Given the description of an element on the screen output the (x, y) to click on. 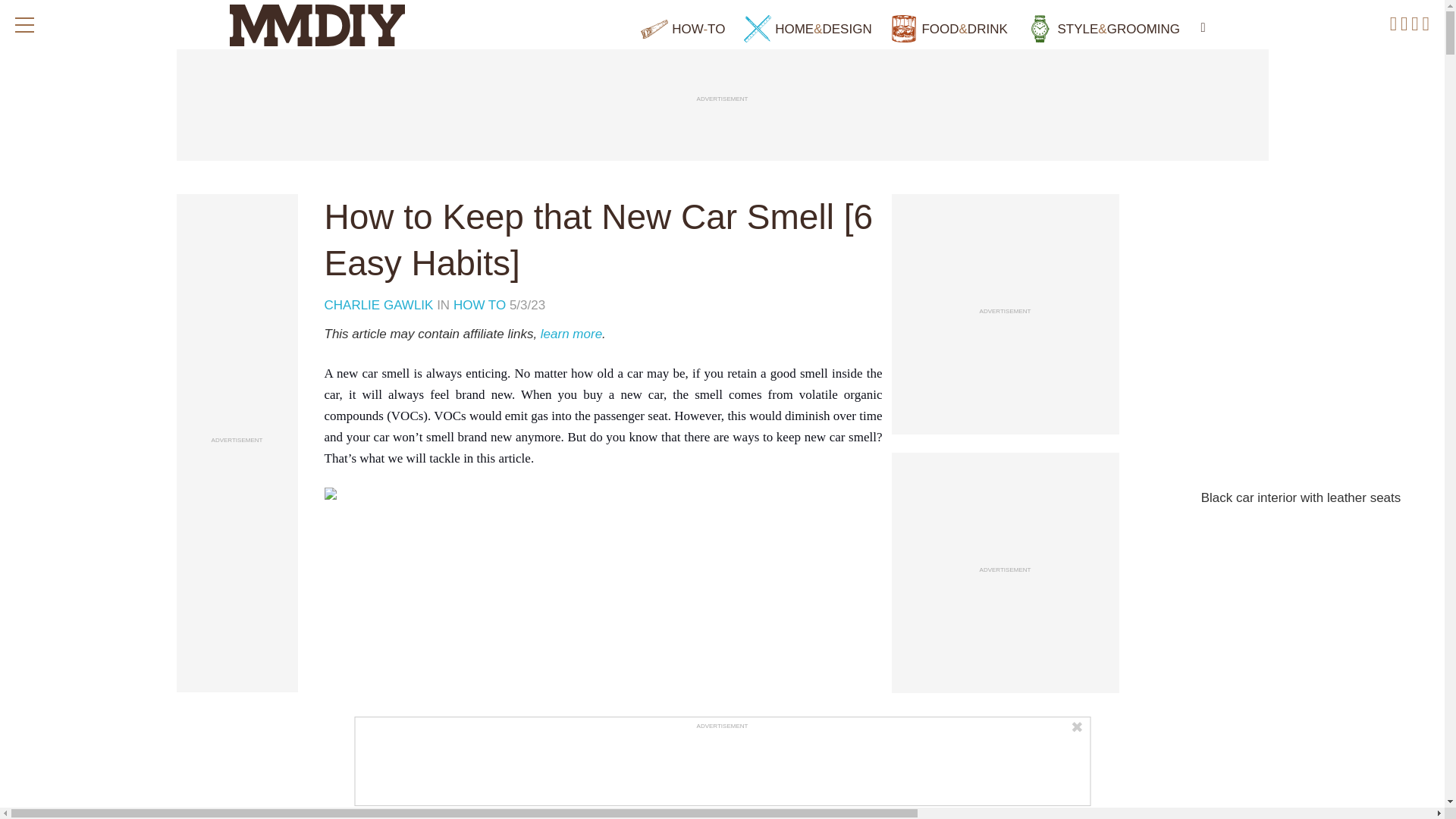
HOW-TO (682, 28)
HOW TO (478, 305)
learn more (571, 333)
CHARLIE GAWLIK (381, 305)
